Given the description of an element on the screen output the (x, y) to click on. 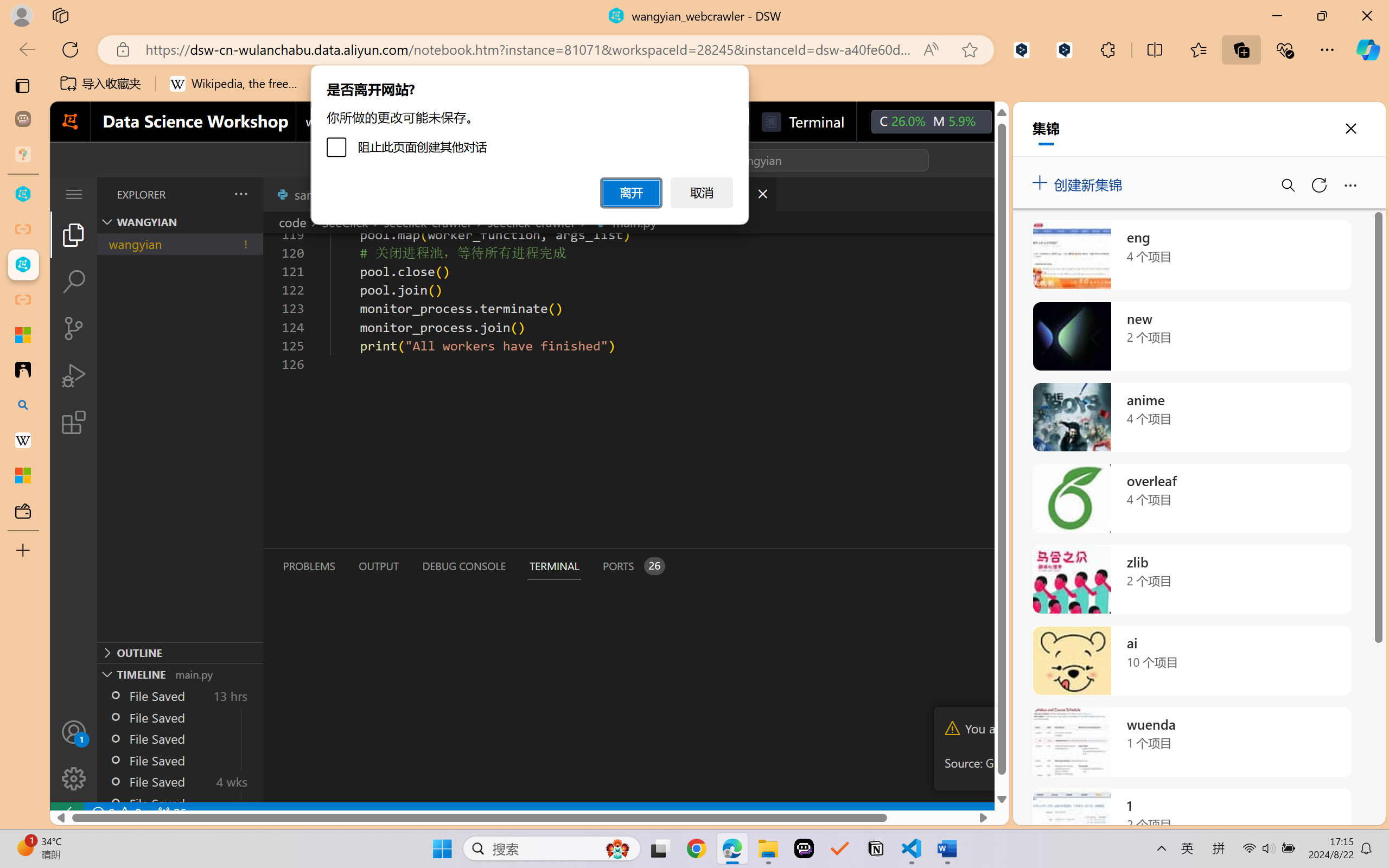
Problems (Ctrl+Shift+M) (308, 565)
Copilot (Ctrl+Shift+.) (1368, 49)
Class: menubar compact overflow-menu-only (73, 194)
Outline Section (179, 652)
Earth - Wikipedia (22, 440)
Ports - 26 forwarded ports (632, 565)
